Given the description of an element on the screen output the (x, y) to click on. 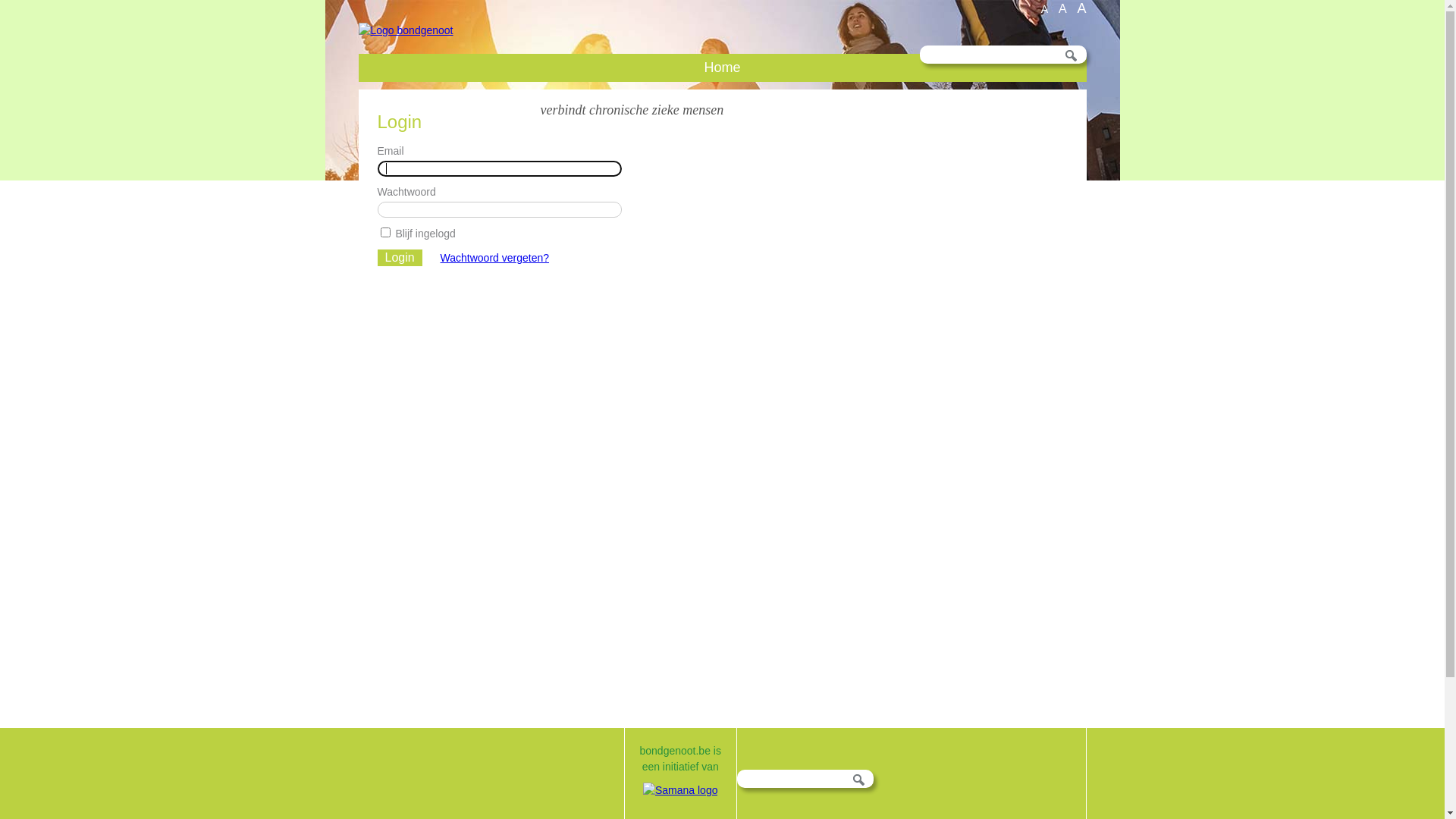
Zoeken Element type: hover (858, 779)
A Element type: text (1044, 8)
A Element type: text (1080, 7)
A Element type: text (1062, 8)
chronische zieke mensen Element type: text (656, 109)
Login Element type: text (399, 257)
Wachtwoord vergeten? Element type: text (494, 257)
Zoeken Element type: hover (1070, 55)
Home Element type: text (721, 67)
